Given the description of an element on the screen output the (x, y) to click on. 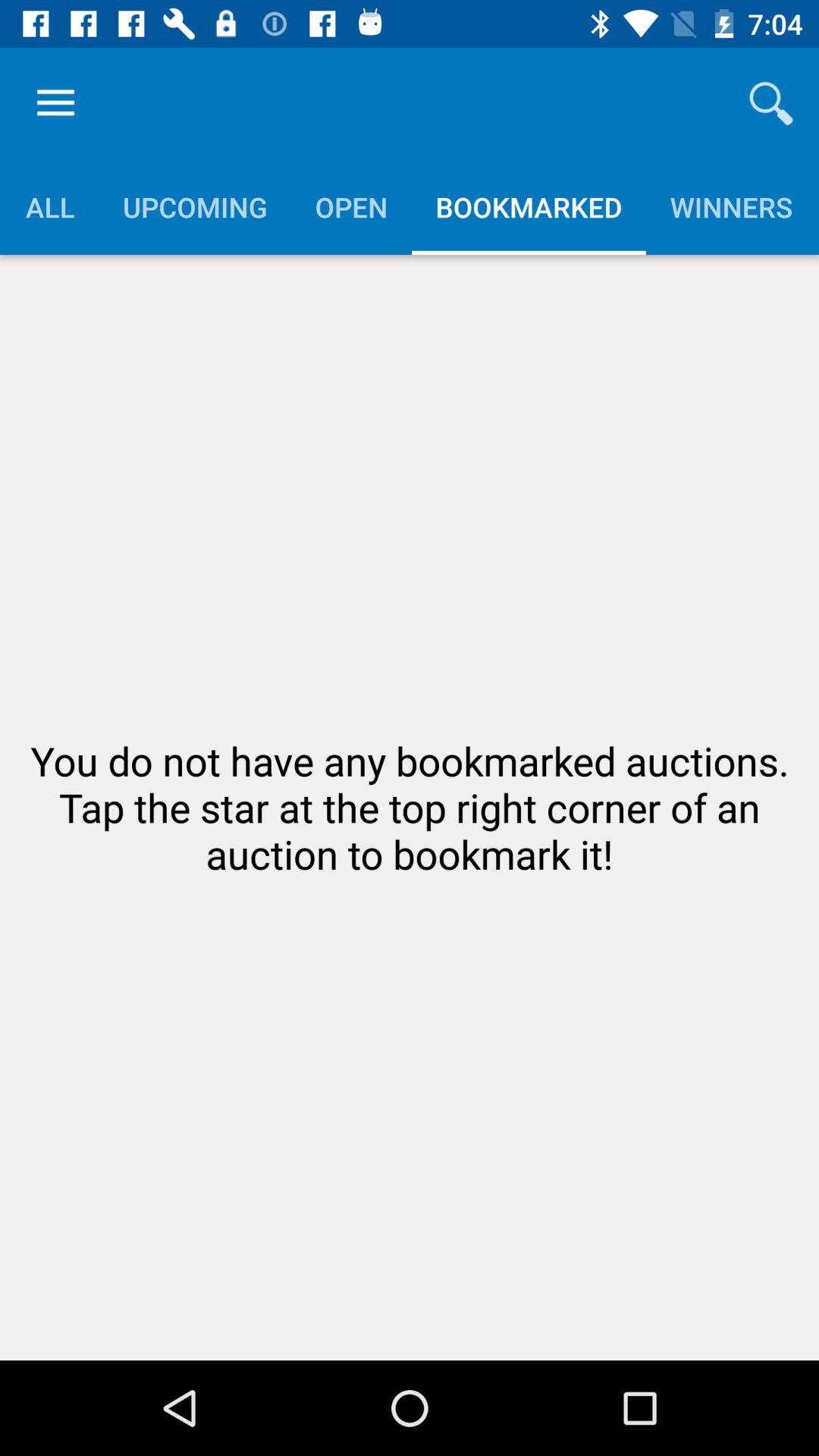
select the item above the all icon (55, 103)
